Given the description of an element on the screen output the (x, y) to click on. 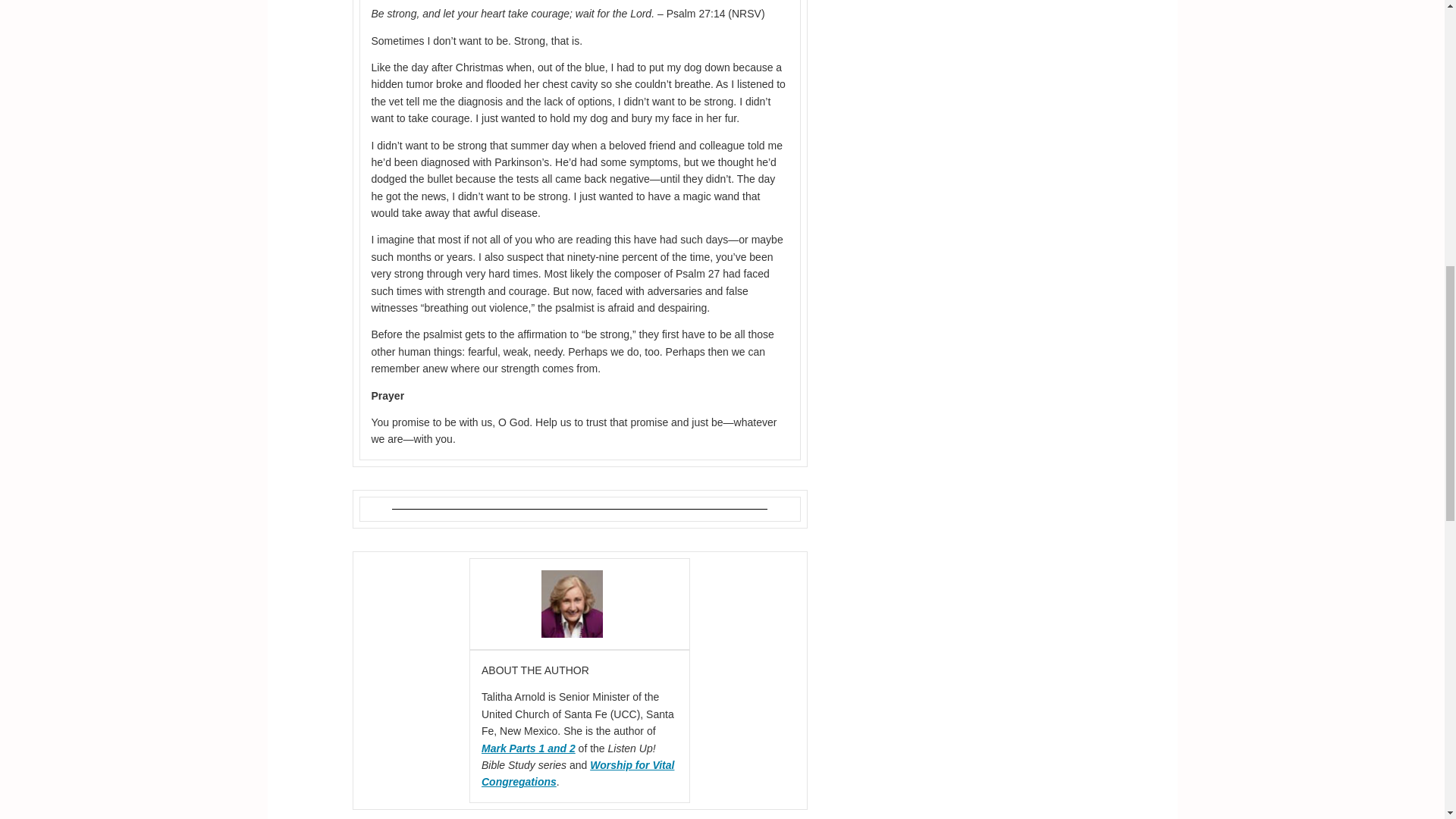
Mark Parts 1 and 2 (528, 748)
Worship for Vital Congregations (577, 773)
